Given the description of an element on the screen output the (x, y) to click on. 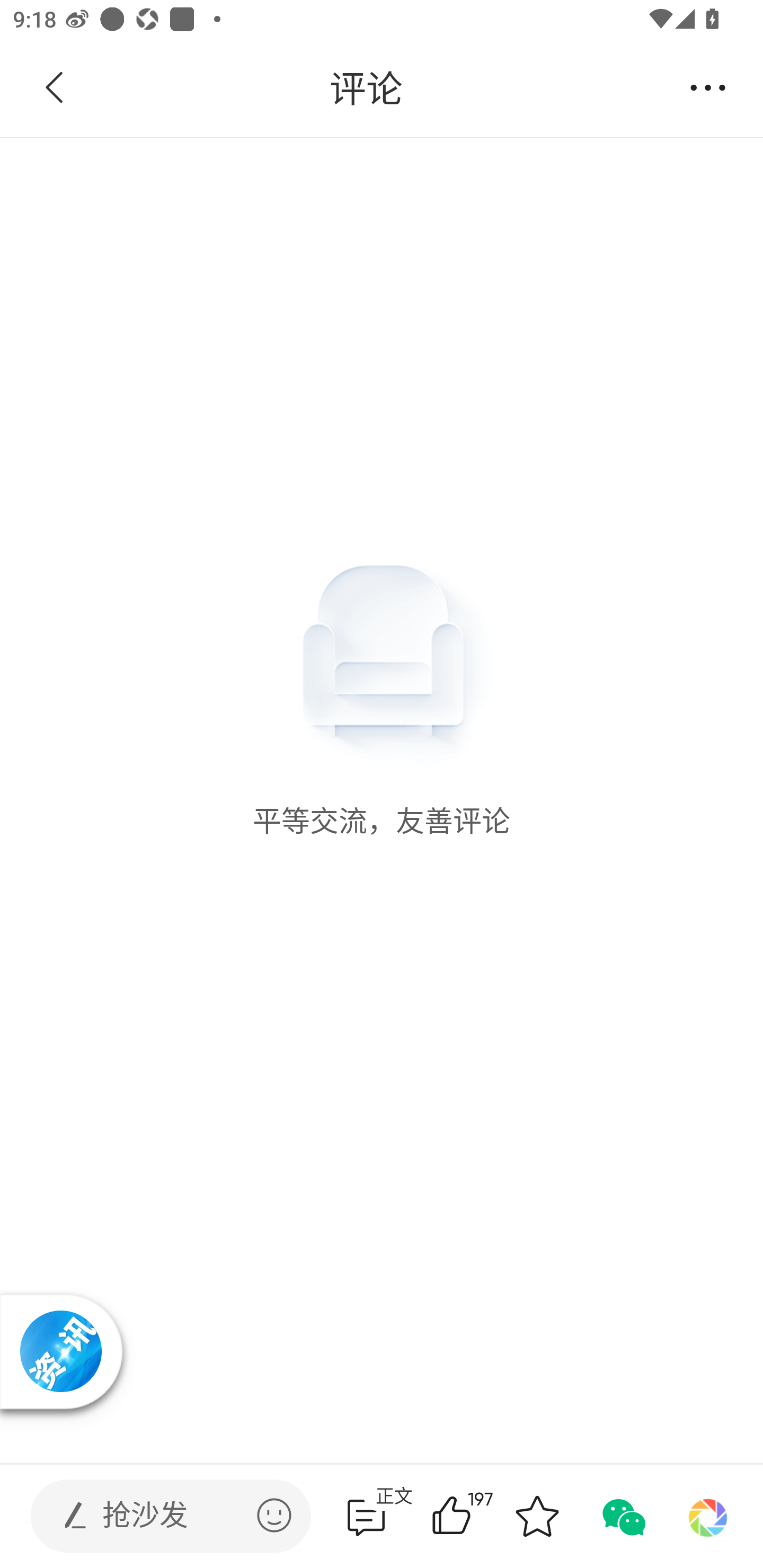
评论 (365, 87)
分享  (707, 87)
 返回 (54, 87)
平等交流，友善评论 (381, 487)
播放器 (60, 1350)
发表评论  抢沙发 发表评论  (155, 1516)
抢评论  抢 评论 (365, 1516)
197赞 (476, 1516)
收藏  (536, 1516)
分享到微信  (622, 1516)
分享到朋友圈 (707, 1516)
 (274, 1515)
